Given the description of an element on the screen output the (x, y) to click on. 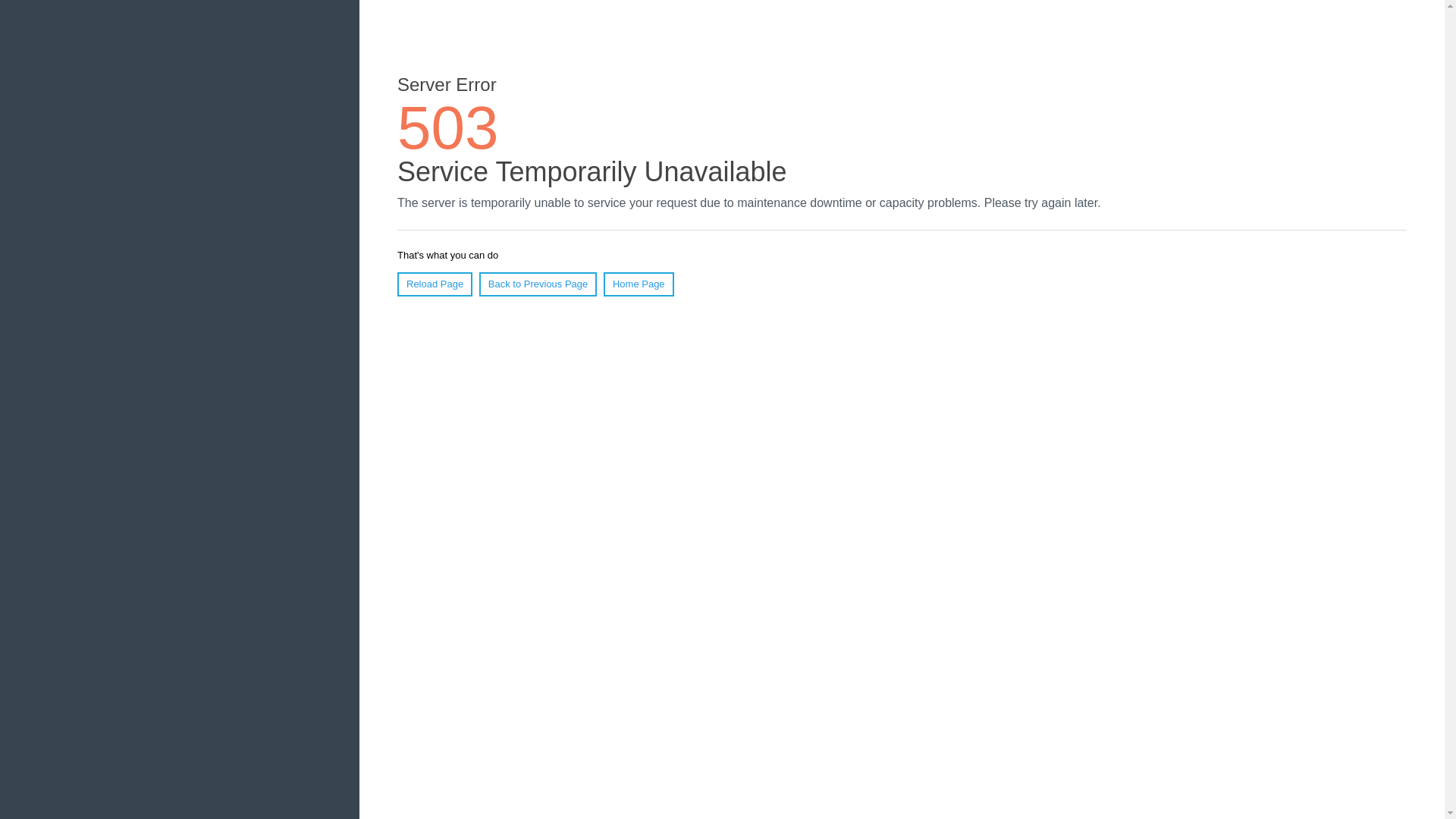
Back to Previous Page (537, 283)
Home Page (639, 283)
Reload Page (434, 283)
